Given the description of an element on the screen output the (x, y) to click on. 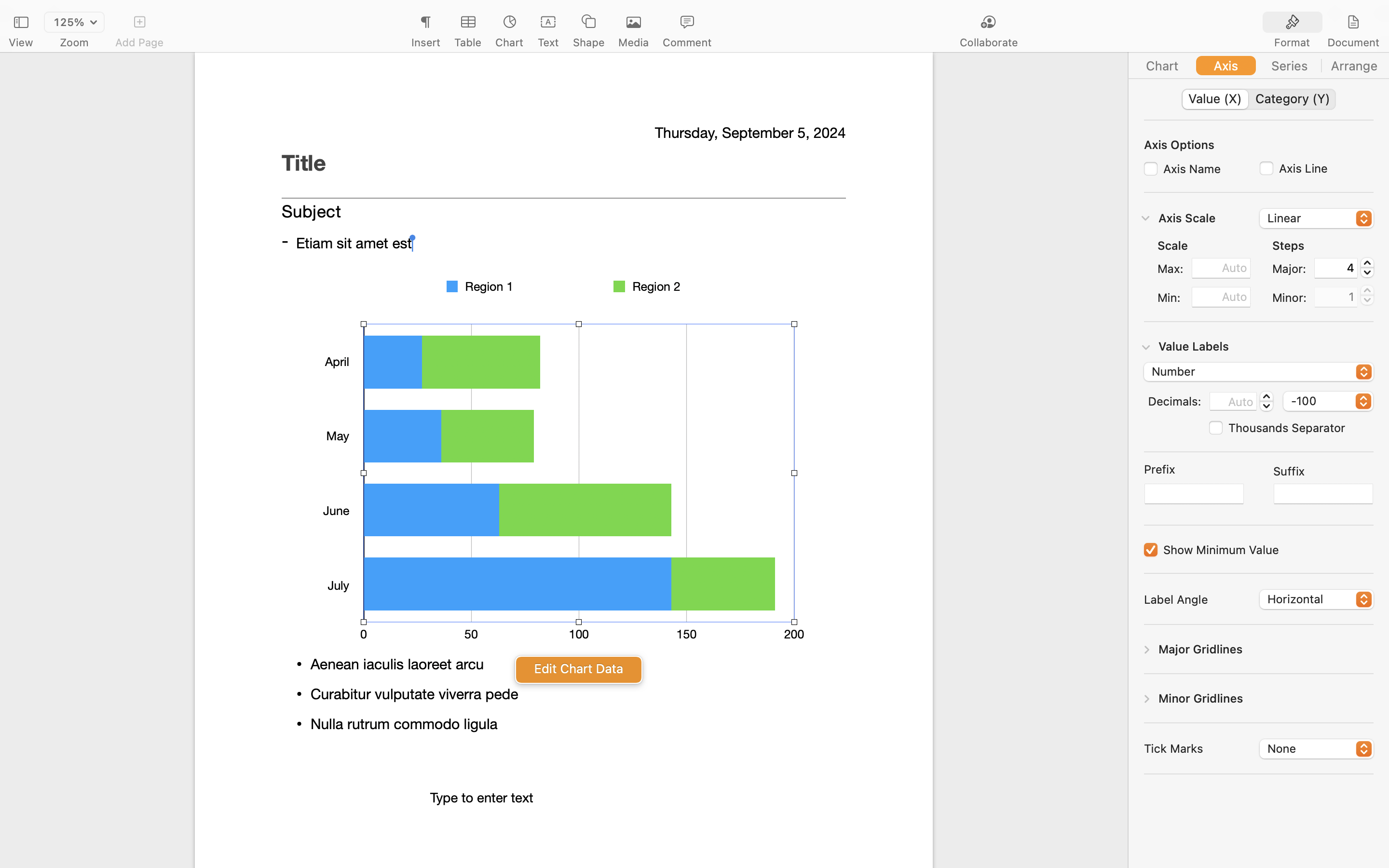
Label Angle Element type: AXStaticText (1175, 599)
Untitled Element type: AXStaticText (667, 12)
View Element type: AXStaticText (20, 42)
Horizontal Element type: AXPopUpButton (1316, 600)
Linear Element type: AXPopUpButton (1316, 219)
